Given the description of an element on the screen output the (x, y) to click on. 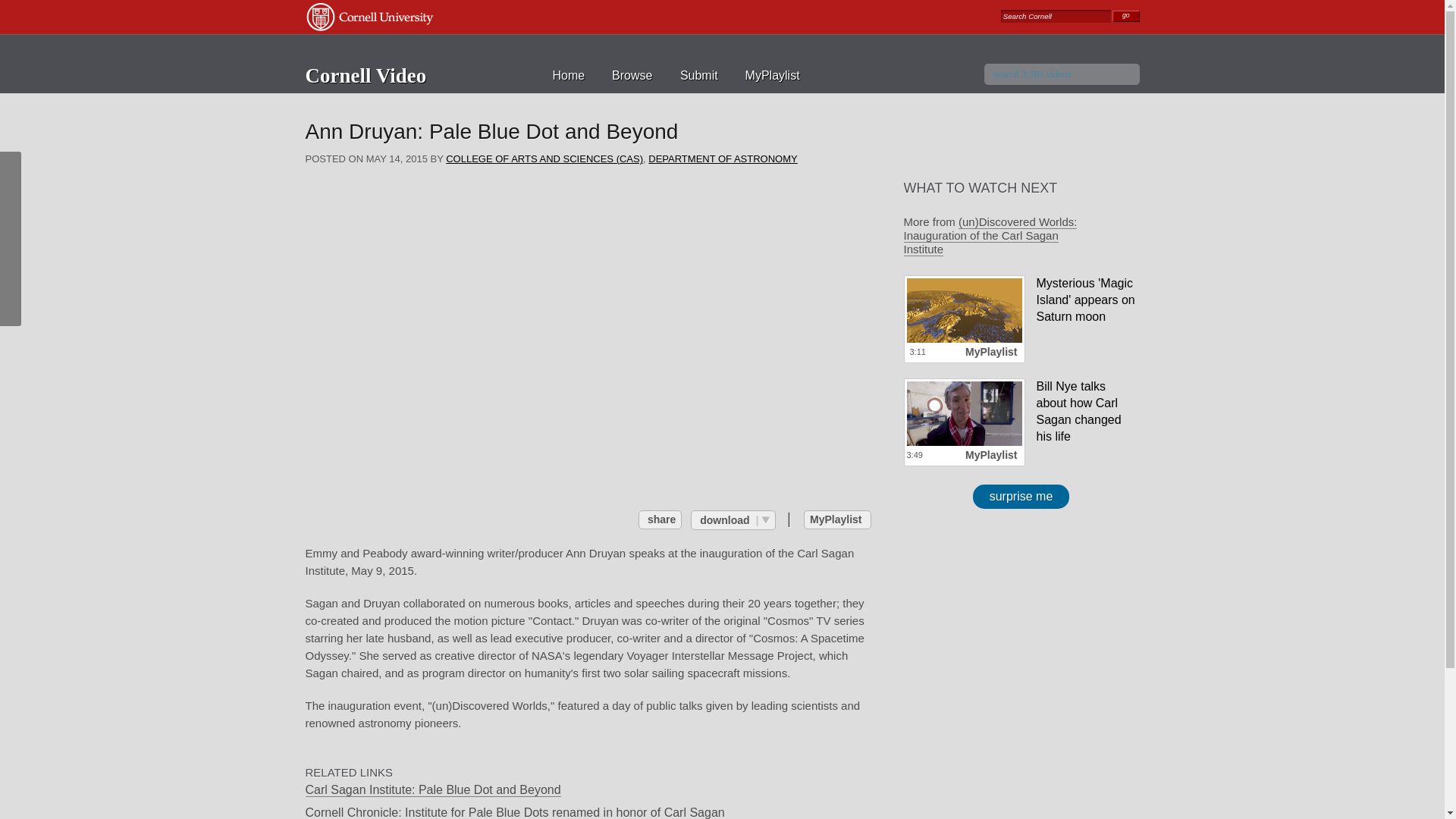
go (1125, 16)
Take a chance and see what you get... (1021, 496)
MyPlaylist (772, 74)
go (1125, 16)
DEPARTMENT OF ASTRONOMY (721, 158)
Submit (698, 74)
share (660, 519)
Browse (631, 74)
Send (829, 313)
MyPlaylist (836, 519)
Home (568, 74)
search 3,503 videos (1062, 74)
download (733, 519)
Search Cornell (1055, 15)
